Given the description of an element on the screen output the (x, y) to click on. 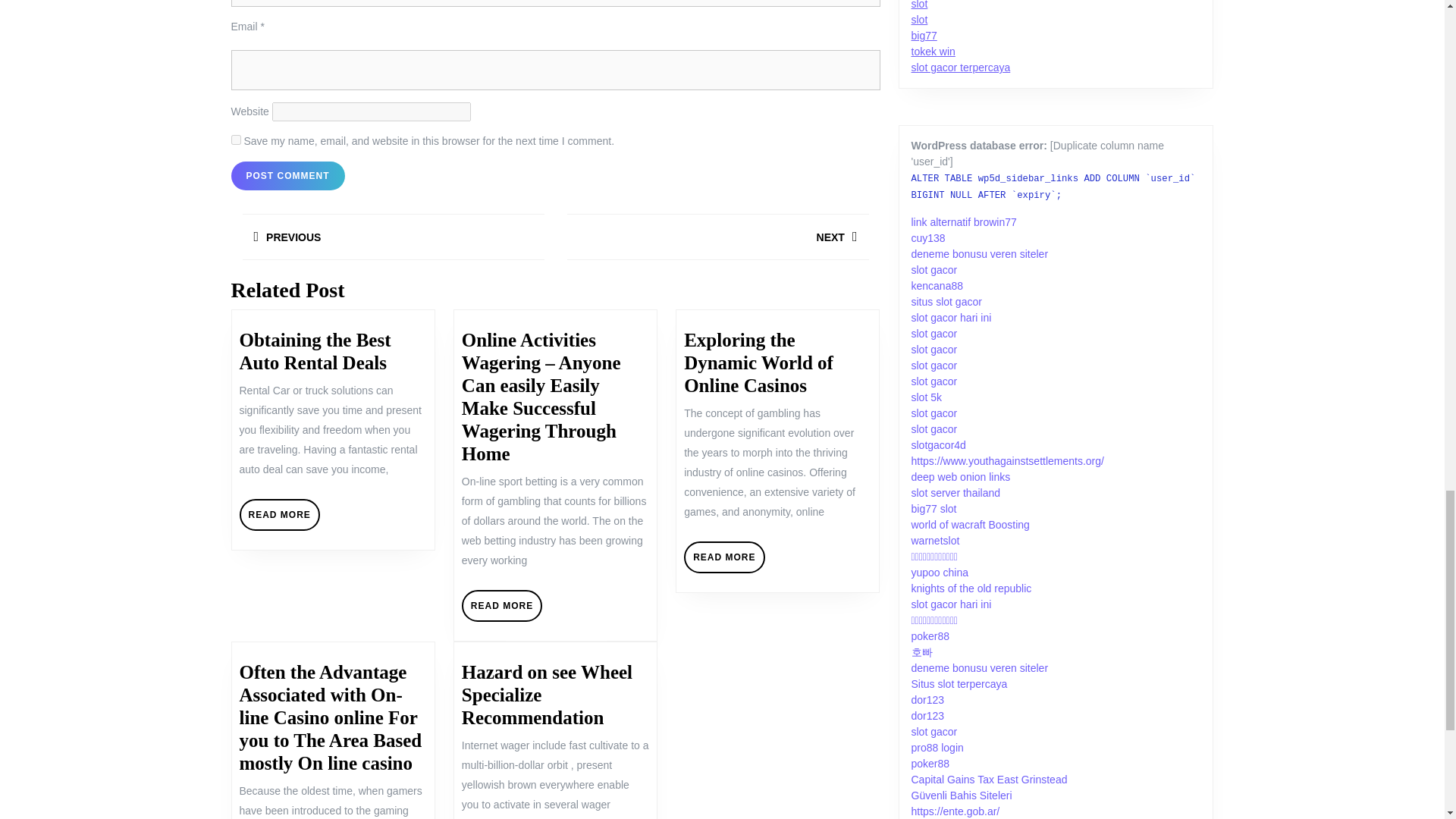
Post Comment (716, 239)
Post Comment (392, 239)
yes (501, 605)
